Given the description of an element on the screen output the (x, y) to click on. 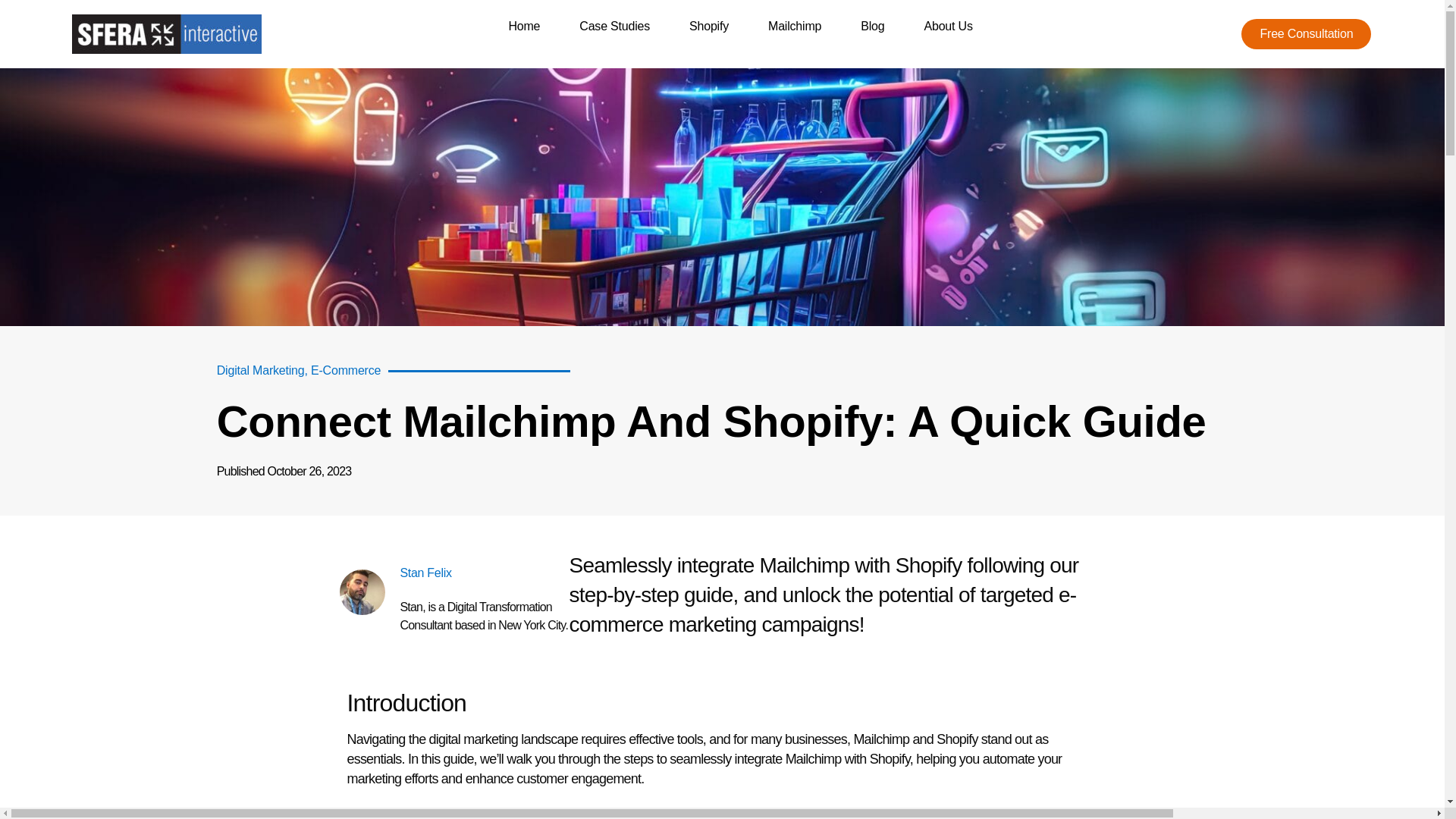
E-Commerce (345, 369)
Published October 26, 2023 (284, 471)
Shopify (708, 26)
Blog (871, 26)
Mailchimp (794, 26)
Home (524, 26)
Digital Marketing (260, 369)
Free Consultation (1306, 33)
Case Studies (614, 26)
Sfera Interactive Logo (166, 34)
About Us (947, 26)
